Given the description of an element on the screen output the (x, y) to click on. 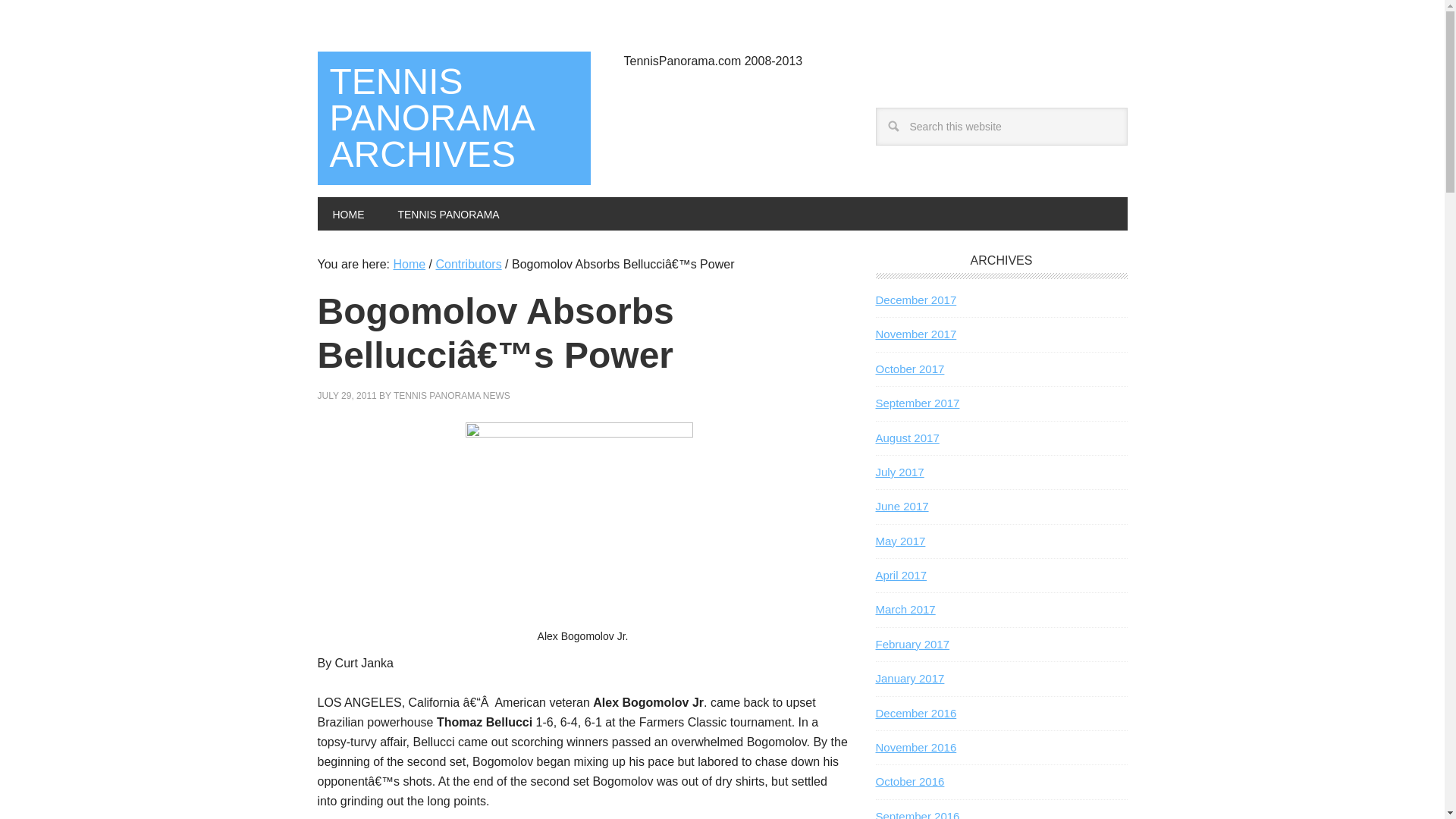
June 2017 (901, 505)
TENNIS PANORAMA ARCHIVES (453, 118)
July 2017 (899, 472)
March 2017 (904, 608)
January 2017 (909, 677)
Contributors (467, 264)
May 2017 (899, 540)
September 2016 (917, 814)
AlexBogomolovbyCurtJanka (579, 525)
September 2017 (917, 402)
December 2016 (915, 712)
October 2016 (909, 780)
TENNIS PANORAMA NEWS (452, 395)
